Given the description of an element on the screen output the (x, y) to click on. 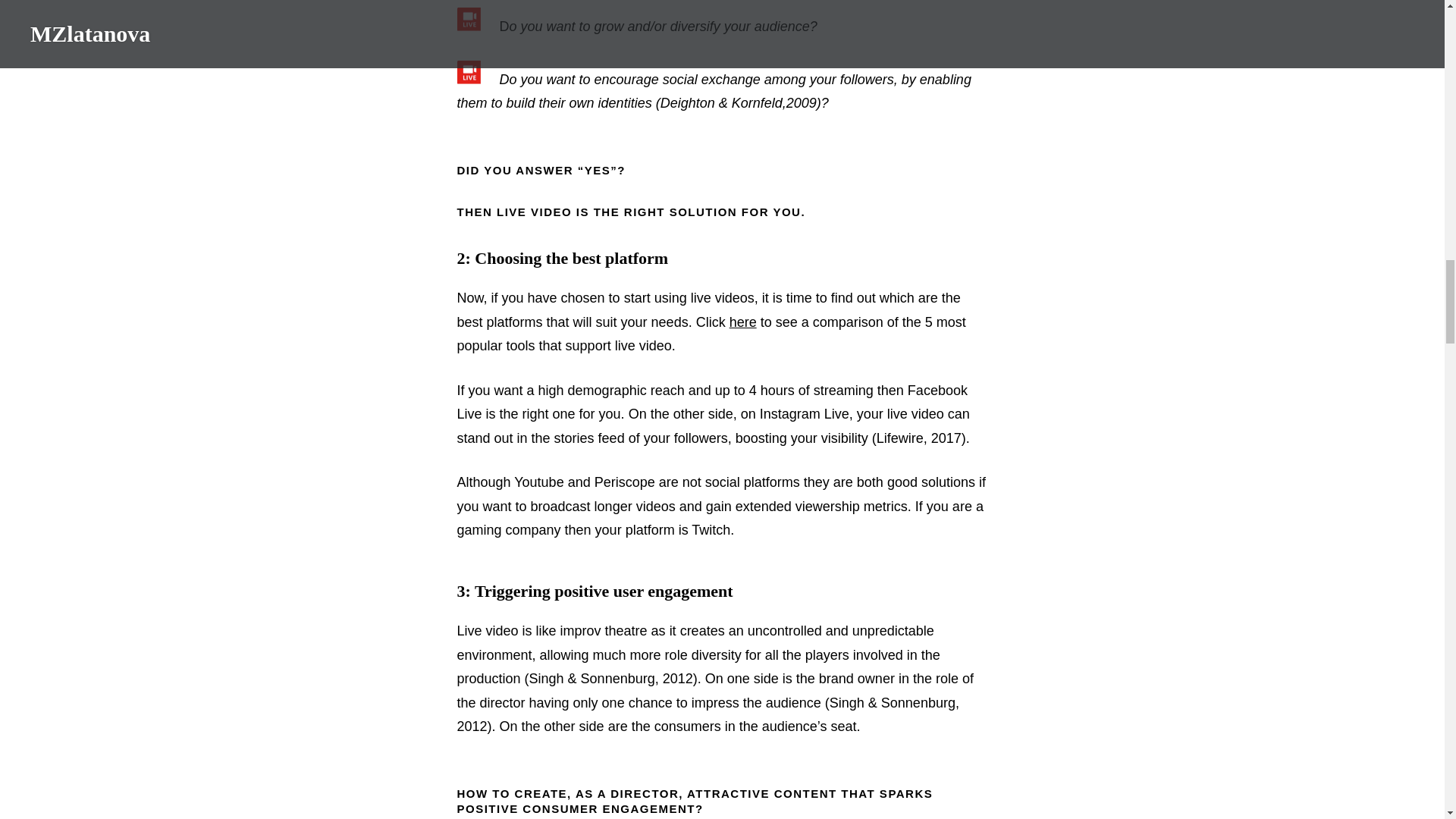
here (743, 322)
